Given the description of an element on the screen output the (x, y) to click on. 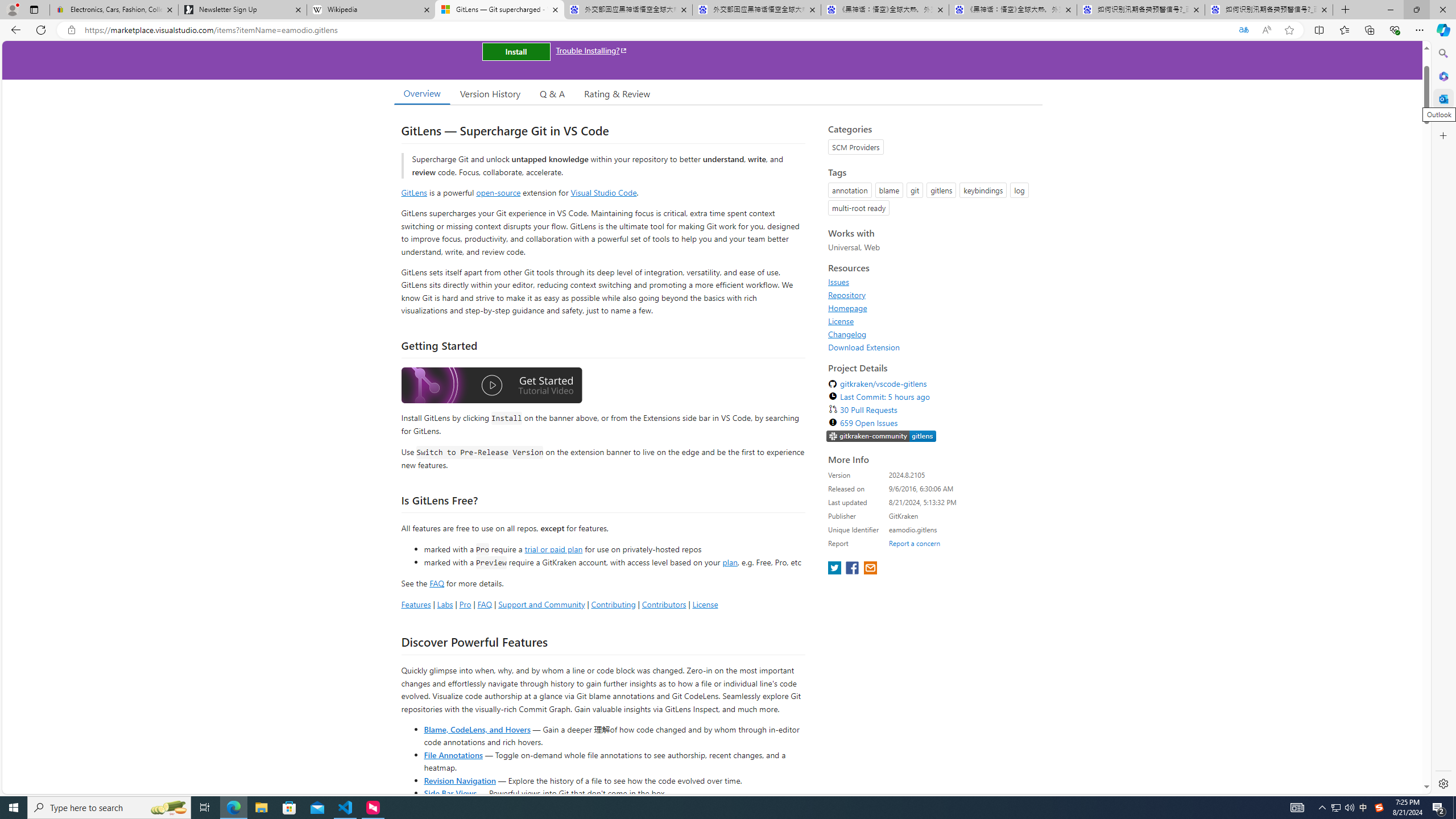
Visual Studio Code (603, 192)
Revision Navigation (459, 780)
Support and Community (541, 603)
Translated (1243, 29)
Changelog (847, 333)
https://slack.gitkraken.com// (881, 436)
